Given the description of an element on the screen output the (x, y) to click on. 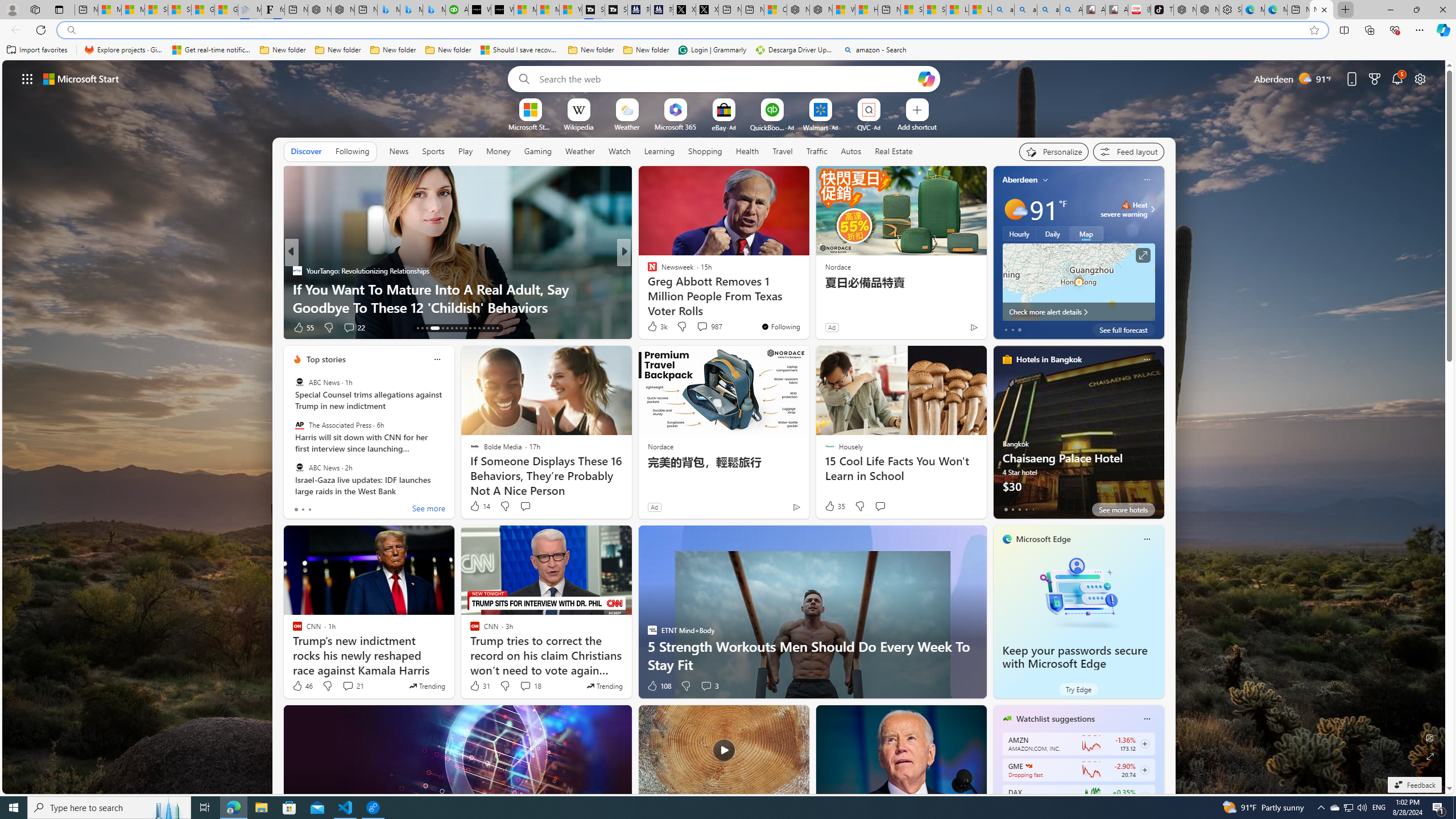
Travel (782, 151)
AutomationID: tab-28 (492, 328)
Import favorites (36, 49)
Expand background (1430, 756)
Microsoft 365 (675, 126)
Don't Use an Ordinary Backpack (807, 307)
AutomationID: tab-15 (426, 328)
Top stories (325, 359)
Learning (659, 151)
